Given the description of an element on the screen output the (x, y) to click on. 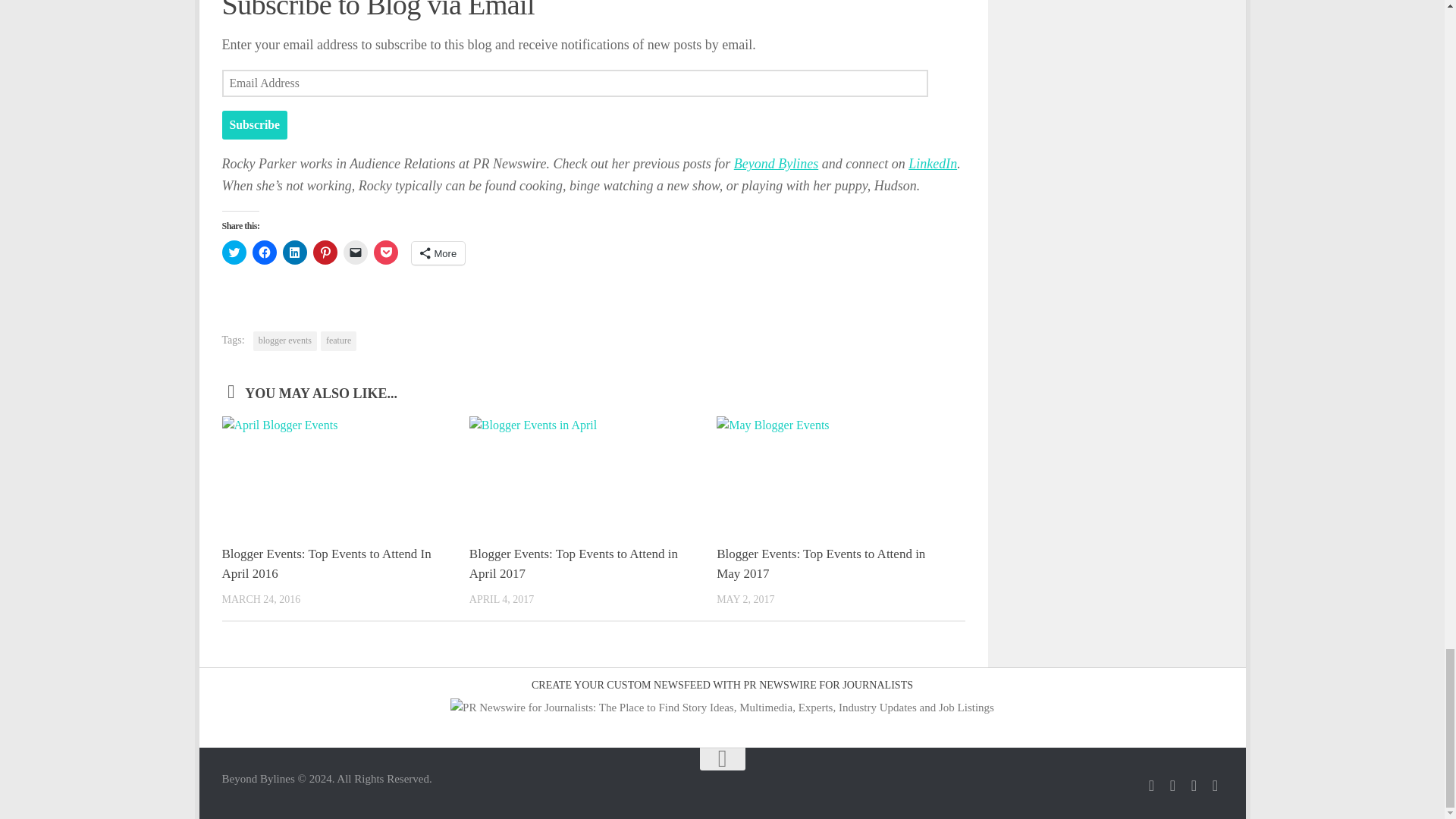
Follow us on Twitter (1150, 785)
Click to share on Pinterest (324, 252)
Click to email a link to a friend (354, 252)
Click to share on Facebook (263, 252)
Click to share on LinkedIn (293, 252)
Click to share on Pocket (384, 252)
Click to share on Twitter (233, 252)
